Given the description of an element on the screen output the (x, y) to click on. 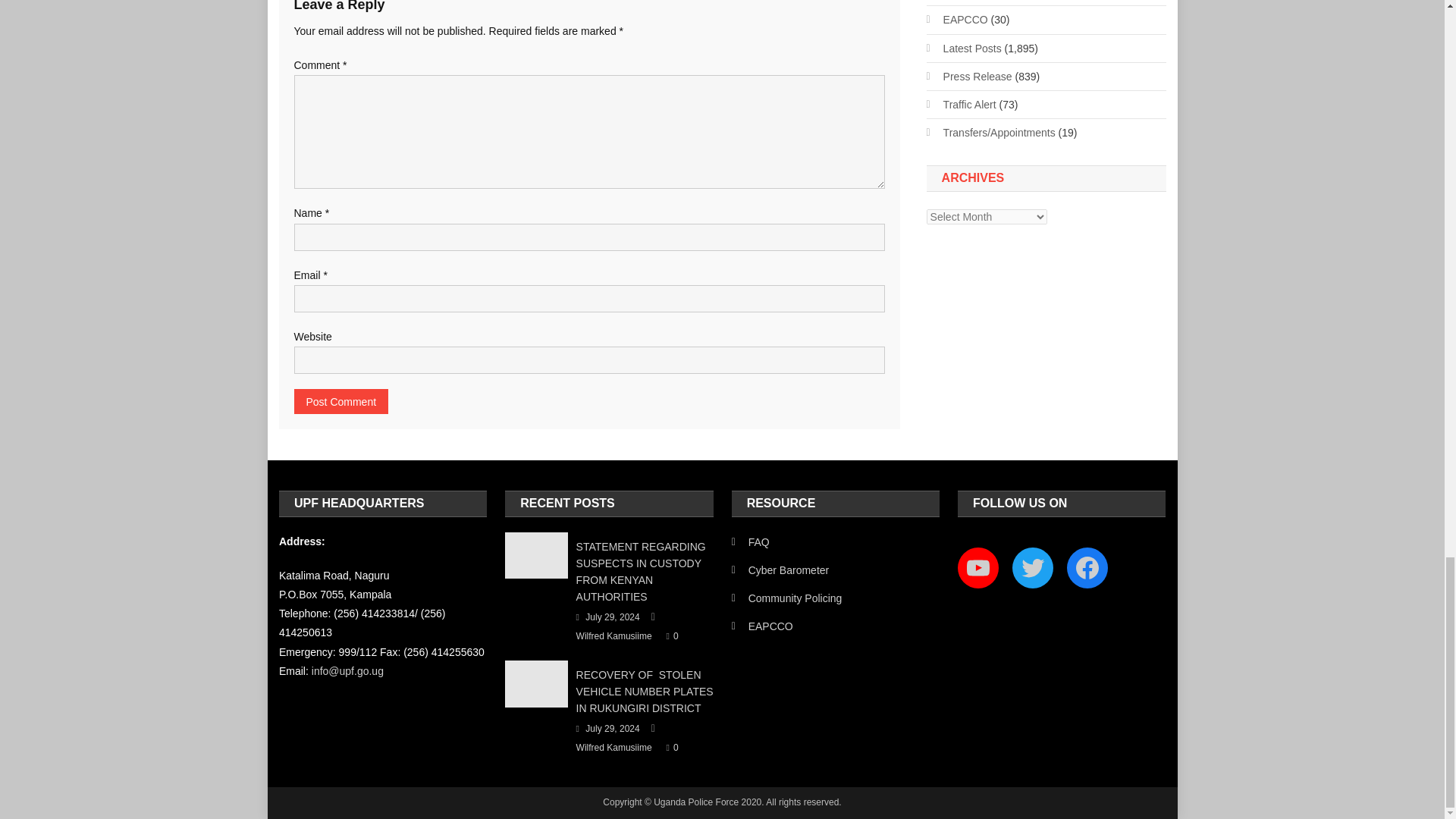
Post Comment (341, 401)
